Given the description of an element on the screen output the (x, y) to click on. 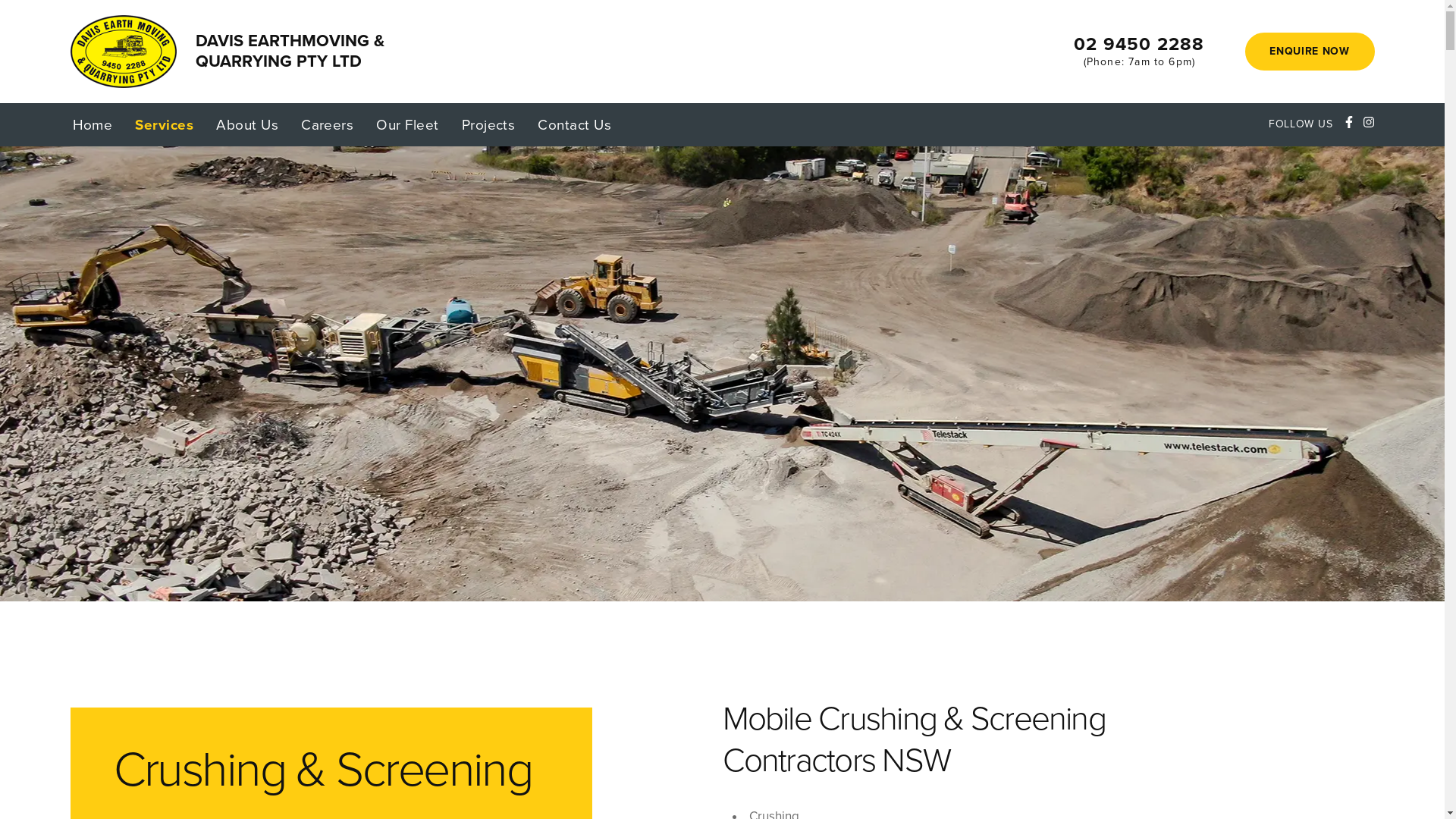
Facebook Element type: text (1348, 124)
Services Element type: text (163, 126)
About Us Element type: text (247, 126)
Projects Element type: text (488, 126)
Home Element type: text (92, 126)
02 9450 2288
(Phone: 7am to 6pm) Element type: text (1138, 51)
Our Fleet Element type: text (407, 126)
Careers Element type: text (327, 126)
ENQUIRE NOW Element type: text (1309, 51)
Instagram Element type: text (1367, 124)
Contact Us Element type: text (574, 126)
